Given the description of an element on the screen output the (x, y) to click on. 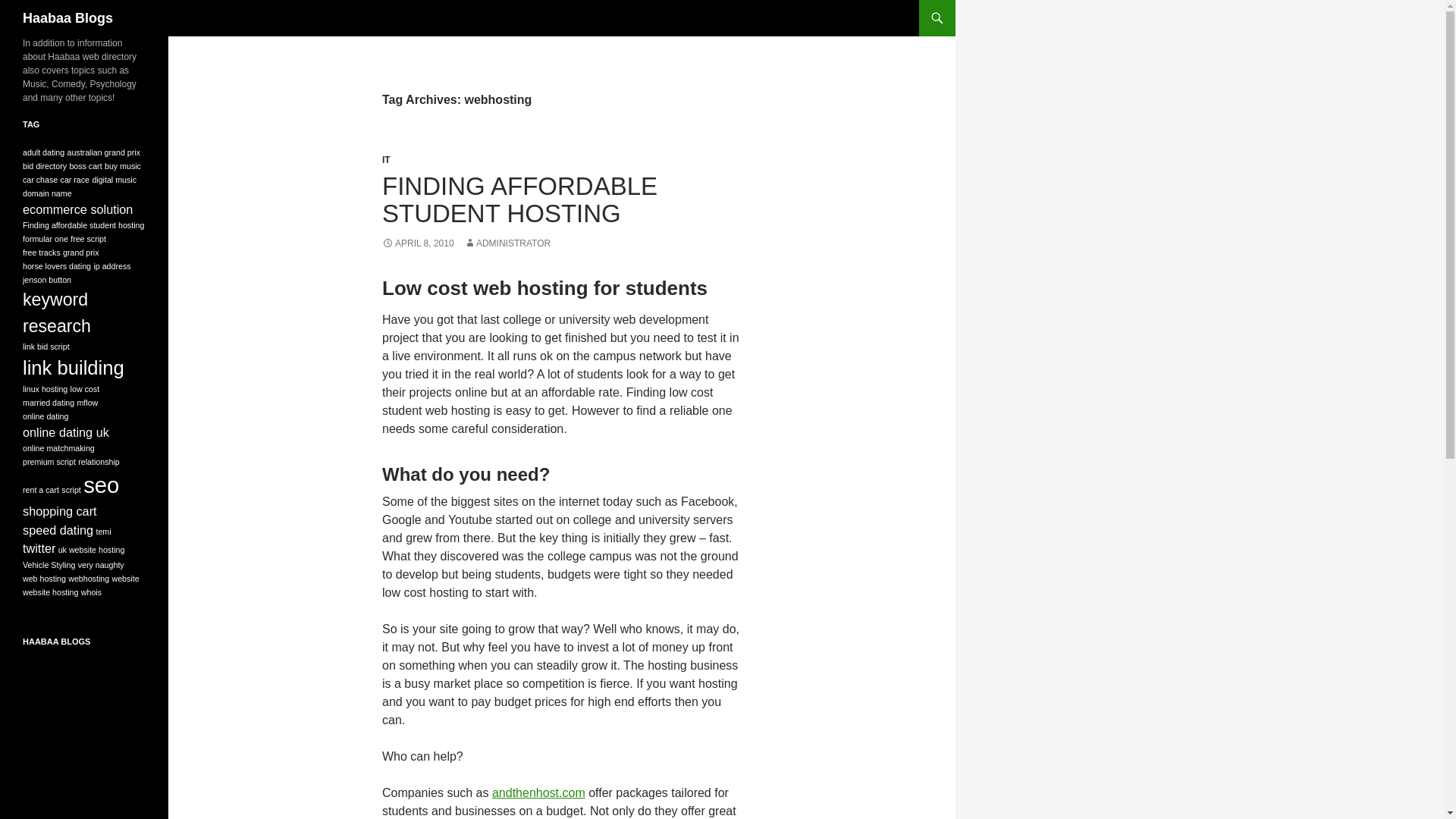
adult dating (43, 152)
formular one (45, 238)
domain name (47, 193)
bid directory (44, 165)
grand prix (80, 252)
ecommerce solution (77, 209)
Finding affordable student hosting (83, 225)
keyword research (56, 312)
jenson button (47, 279)
married dating (48, 402)
